Given the description of an element on the screen output the (x, y) to click on. 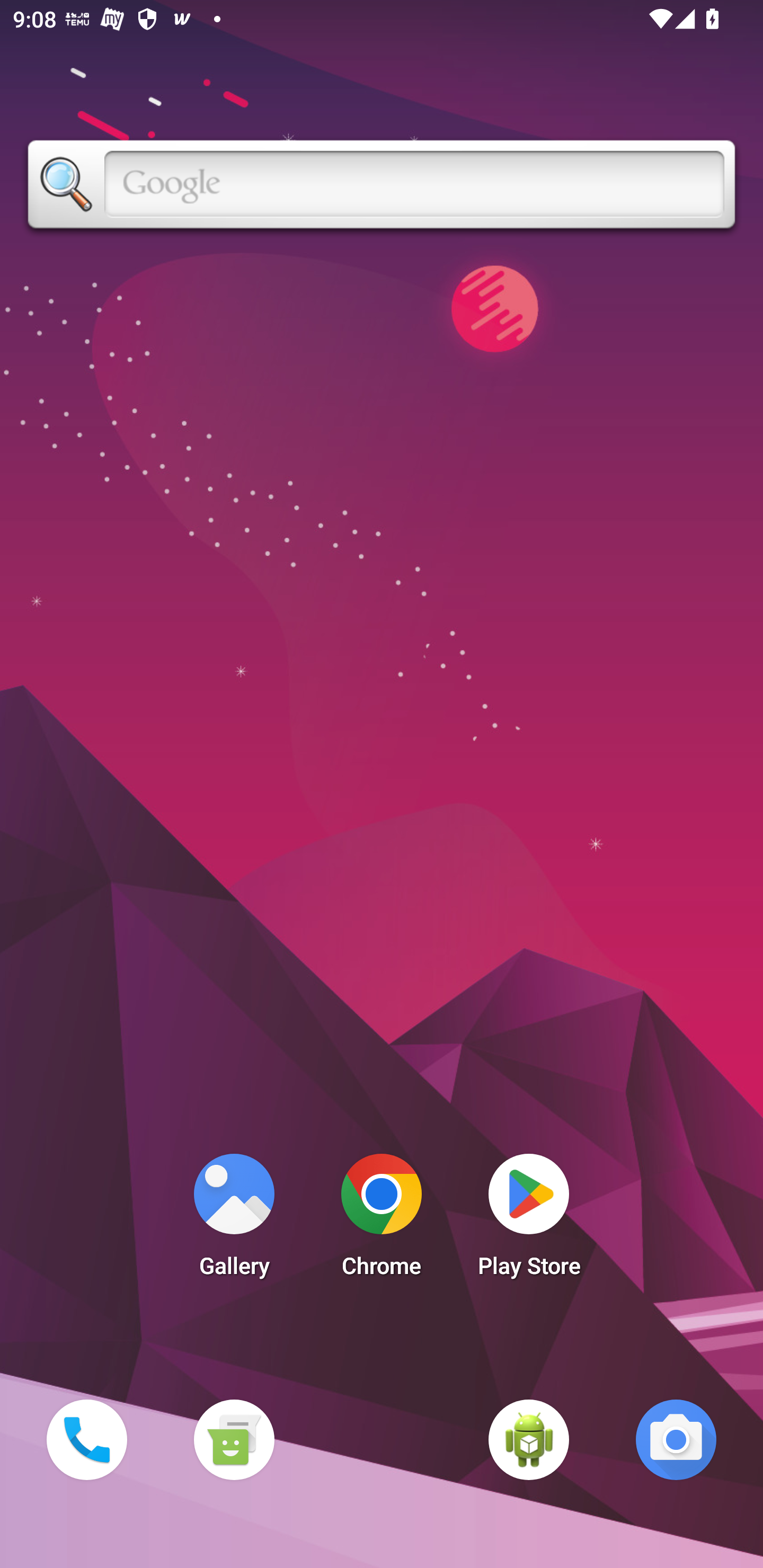
Gallery (233, 1220)
Chrome (381, 1220)
Play Store (528, 1220)
Phone (86, 1439)
Messaging (233, 1439)
WebView Browser Tester (528, 1439)
Camera (676, 1439)
